Given the description of an element on the screen output the (x, y) to click on. 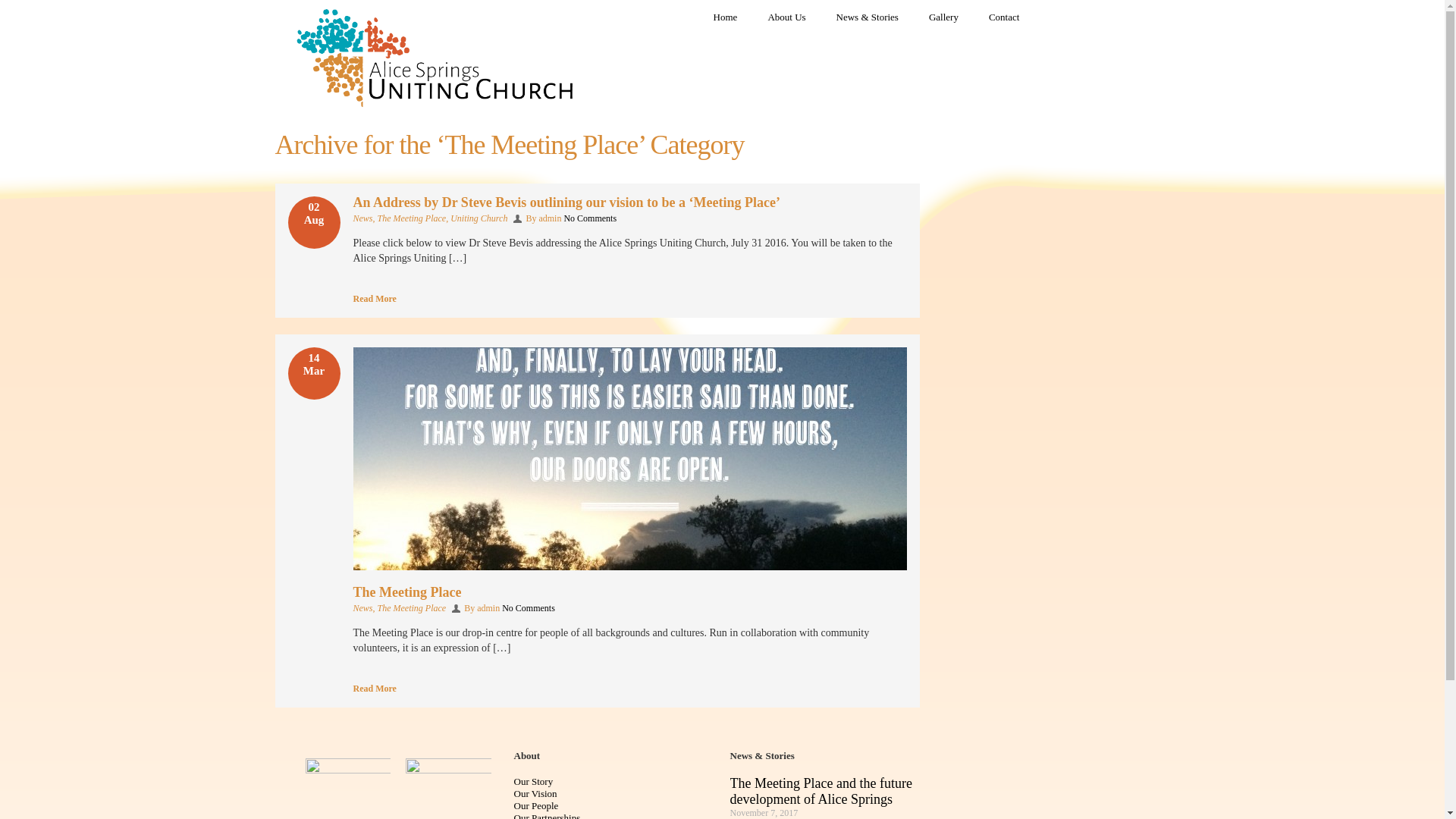
Facebook Element type: text (830, 297)
The Meeting Place Element type: text (411, 607)
Our People Element type: text (614, 806)
Home Element type: text (725, 17)
Twitter Element type: text (853, 687)
Contact Element type: text (1003, 17)
The Meeting Place Element type: text (411, 218)
Read More Element type: text (374, 688)
Read More Element type: text (374, 298)
Uniting Church Element type: text (478, 218)
The Meeting Place Element type: text (407, 591)
Email Element type: text (874, 687)
Our Vision Element type: text (614, 793)
Gallery Element type: text (943, 17)
Our Story Element type: text (614, 781)
News & Stories Element type: text (867, 17)
Twitter Element type: text (853, 297)
Facebook Element type: text (830, 687)
No Comments Element type: text (528, 607)
News Element type: text (363, 607)
No Comments Element type: text (589, 218)
News Element type: text (363, 218)
Email Element type: text (874, 297)
About Us Element type: text (786, 17)
